Given the description of an element on the screen output the (x, y) to click on. 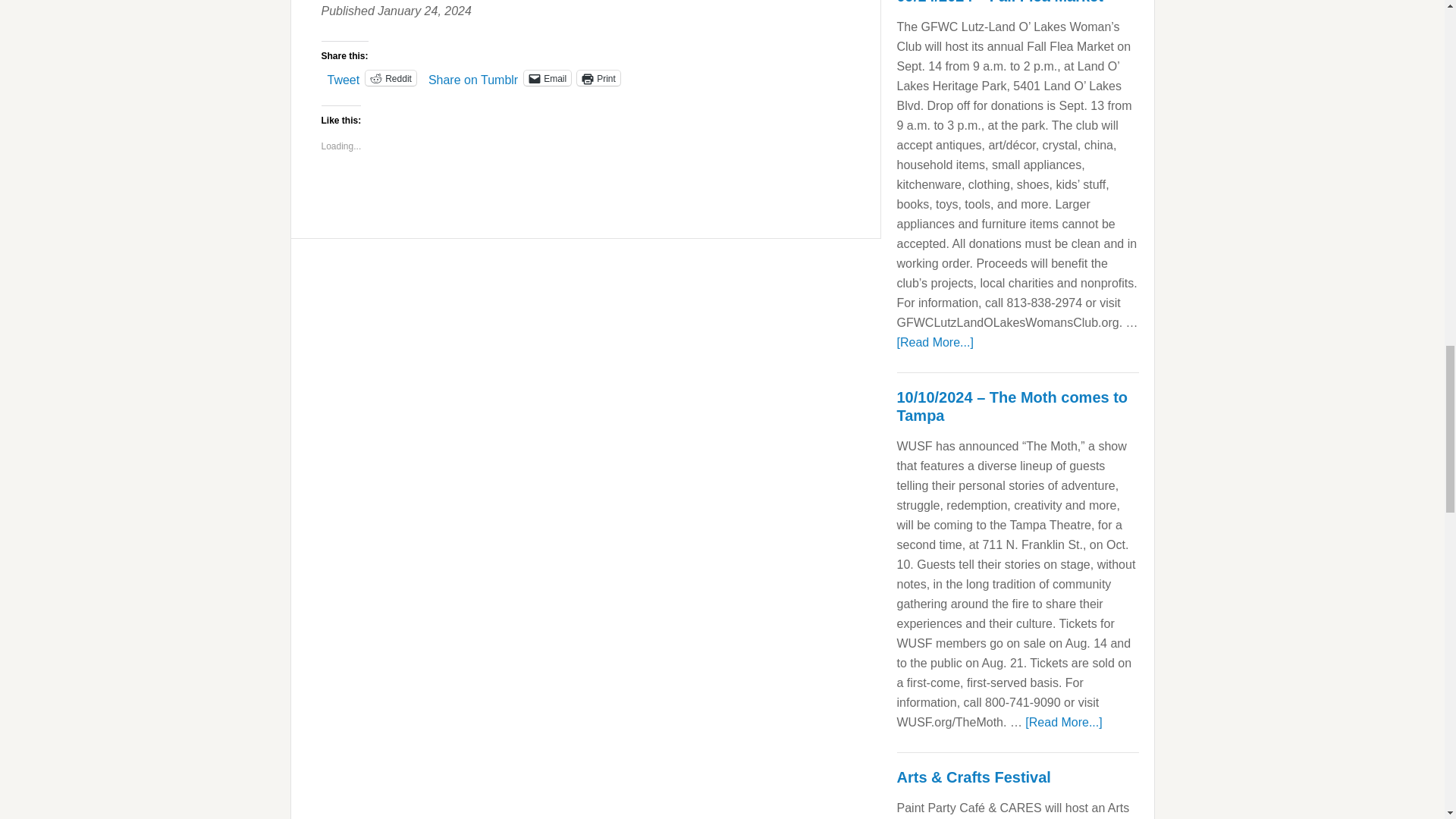
Click to print (598, 77)
Click to email a link to a friend (547, 77)
Click to share on Reddit (390, 77)
Share on Tumblr (473, 77)
